Given the description of an element on the screen output the (x, y) to click on. 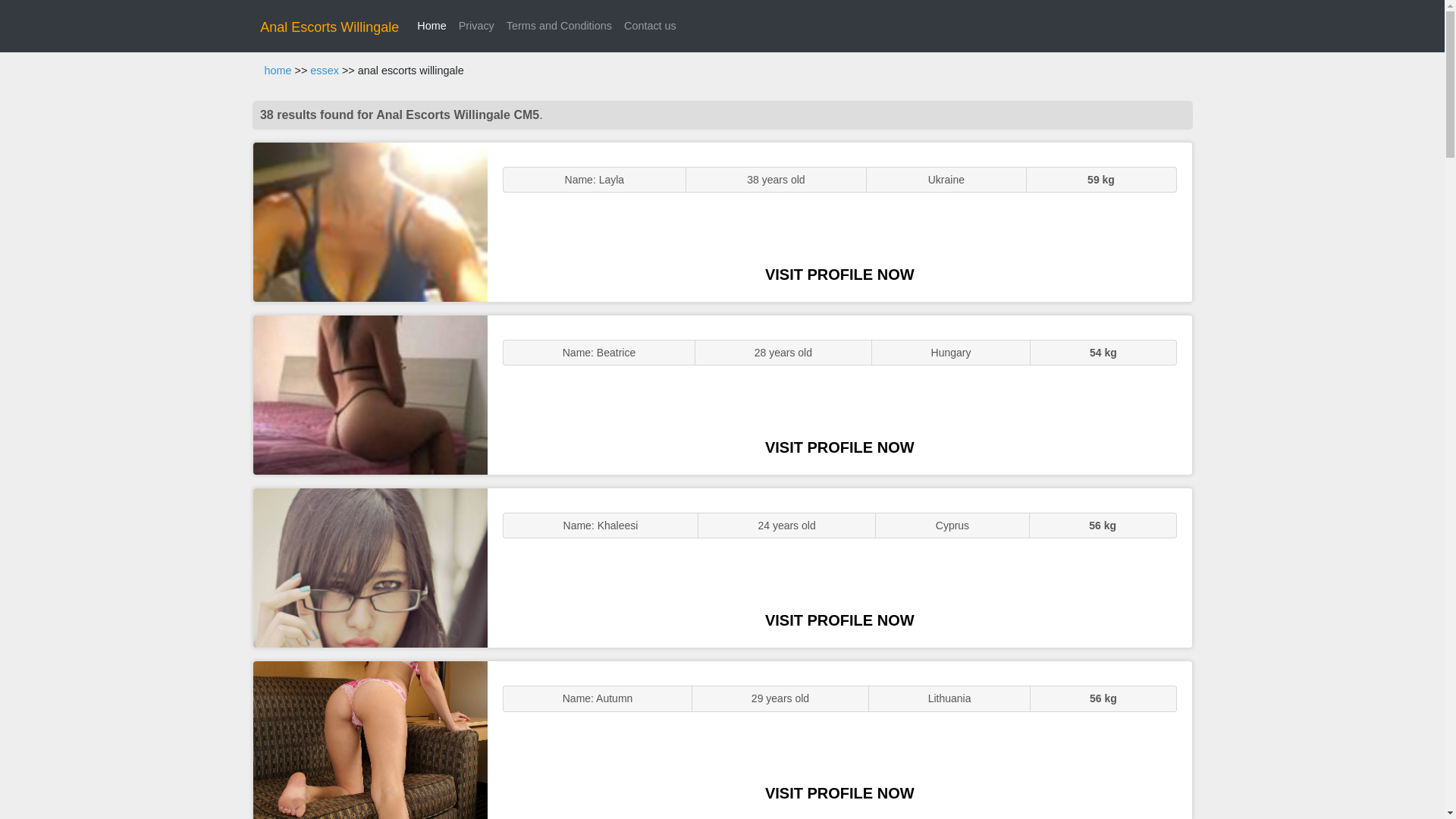
Privacy (476, 25)
Terms and Conditions (558, 25)
GFE (370, 395)
essex (324, 70)
VISIT PROFILE NOW (839, 792)
Sluts (370, 739)
home (277, 70)
Contact us (649, 25)
Sexy (370, 567)
VISIT PROFILE NOW (839, 274)
 ENGLISH STUNNER (370, 222)
VISIT PROFILE NOW (839, 619)
VISIT PROFILE NOW (839, 446)
Anal Escorts Willingale (329, 27)
